Given the description of an element on the screen output the (x, y) to click on. 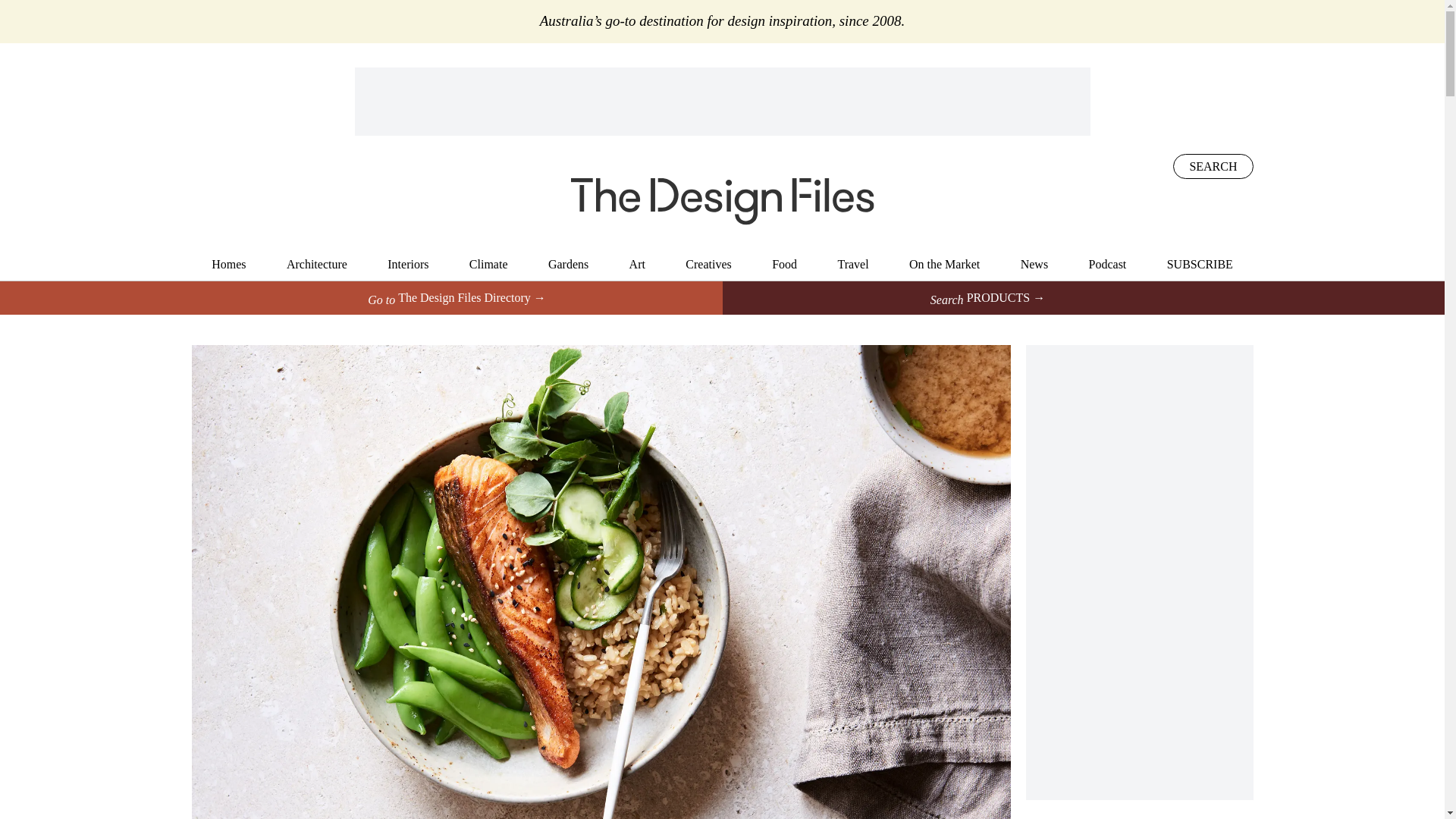
News (1034, 264)
SUBSCRIBE (1200, 264)
Food (783, 264)
Travel (852, 264)
On the Market (943, 264)
Architecture (316, 264)
SEARCH (1212, 166)
Homes (228, 264)
Interiors (407, 264)
Creatives (707, 264)
Gardens (568, 264)
Climate (488, 264)
Podcast (1107, 264)
